Given the description of an element on the screen output the (x, y) to click on. 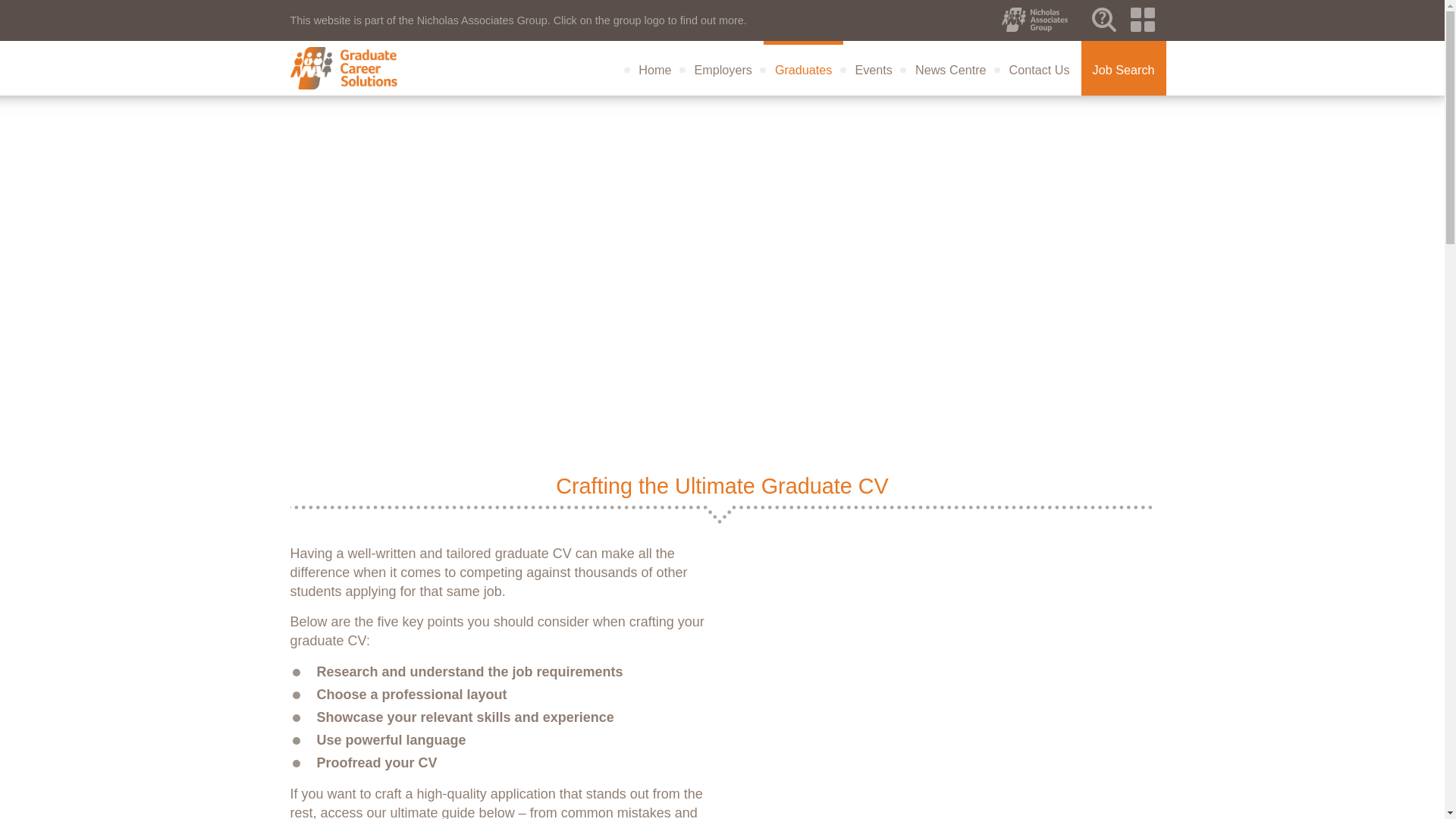
Graduates (803, 70)
Job Search (1123, 70)
News Centre (950, 70)
Nichoas Associates Group (1104, 19)
Home (654, 70)
Employers (722, 70)
Events (873, 70)
Contact Us (1039, 70)
Nichoas Associates Group (1039, 19)
Nichoas Associates Group (1141, 19)
